Given the description of an element on the screen output the (x, y) to click on. 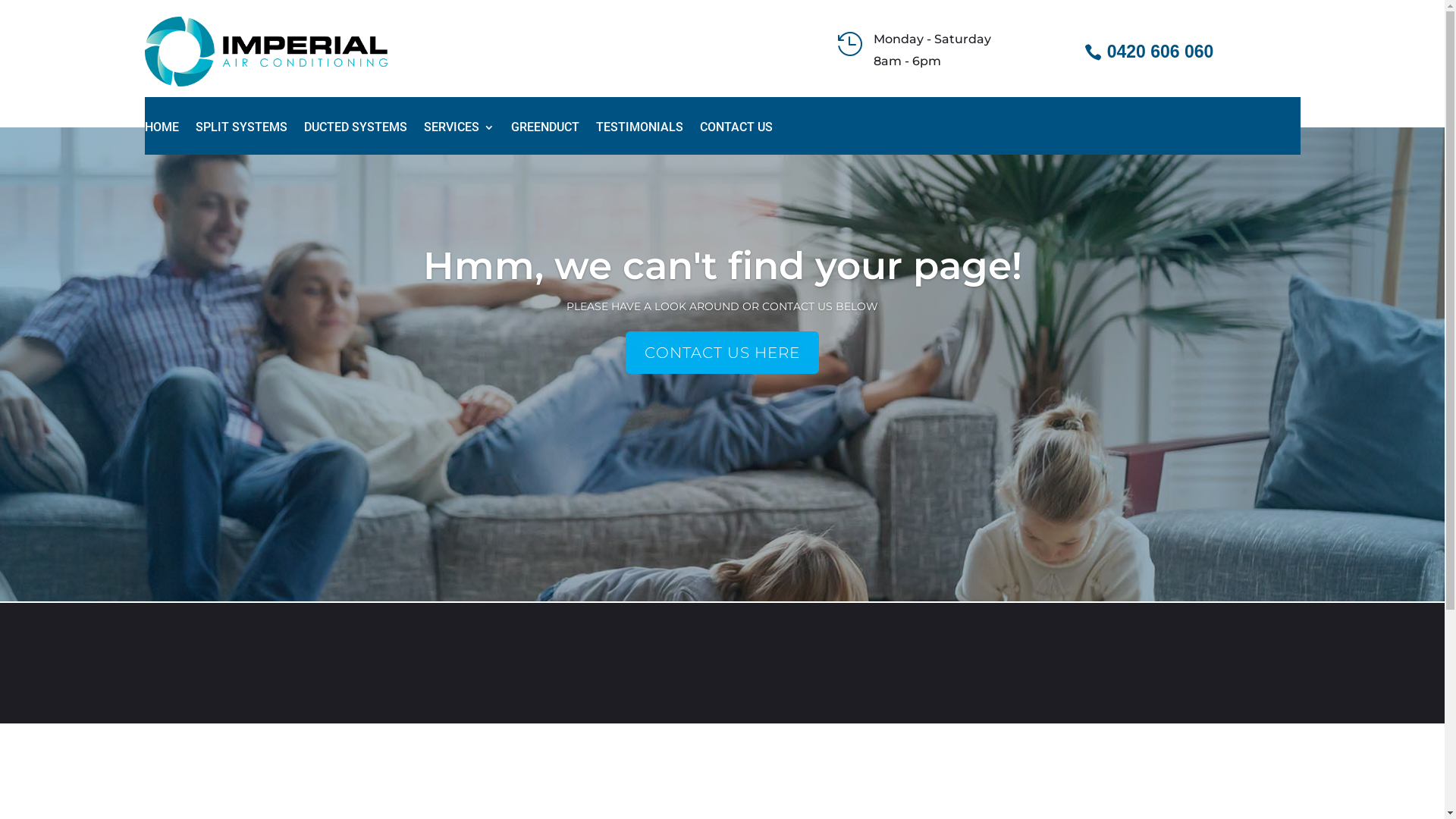
TESTIMONIALS Element type: text (639, 138)
DUCTED SYSTEMS Element type: text (354, 138)
CONTACT US Element type: text (735, 138)
0420 606 060 Element type: text (1151, 51)
Hmm, we can't find your page! Element type: text (722, 265)
CONTACT US HERE Element type: text (722, 352)
SPLIT SYSTEMS Element type: text (241, 138)
GREENDUCT Element type: text (545, 138)
HOME Element type: text (161, 138)
SERVICES Element type: text (458, 138)
